Given the description of an element on the screen output the (x, y) to click on. 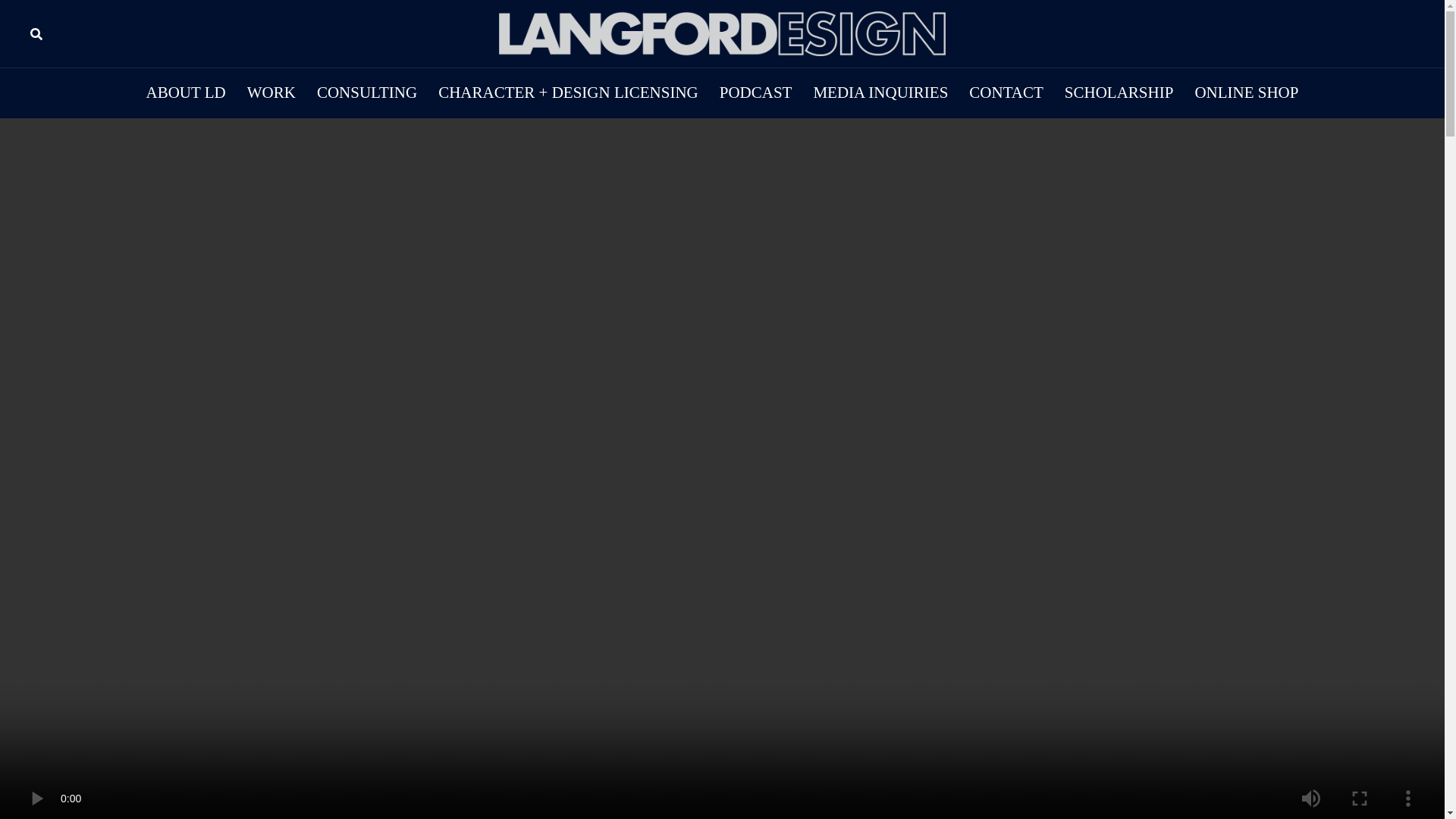
Langfordesign (721, 32)
SCHOLARSHIP (1118, 93)
WORK (271, 93)
MEDIA INQUIRIES (879, 93)
ABOUT LD (186, 93)
CONTACT (1005, 93)
CONSULTING (366, 93)
ONLINE SHOP (1245, 93)
PODCAST (755, 93)
